Given the description of an element on the screen output the (x, y) to click on. 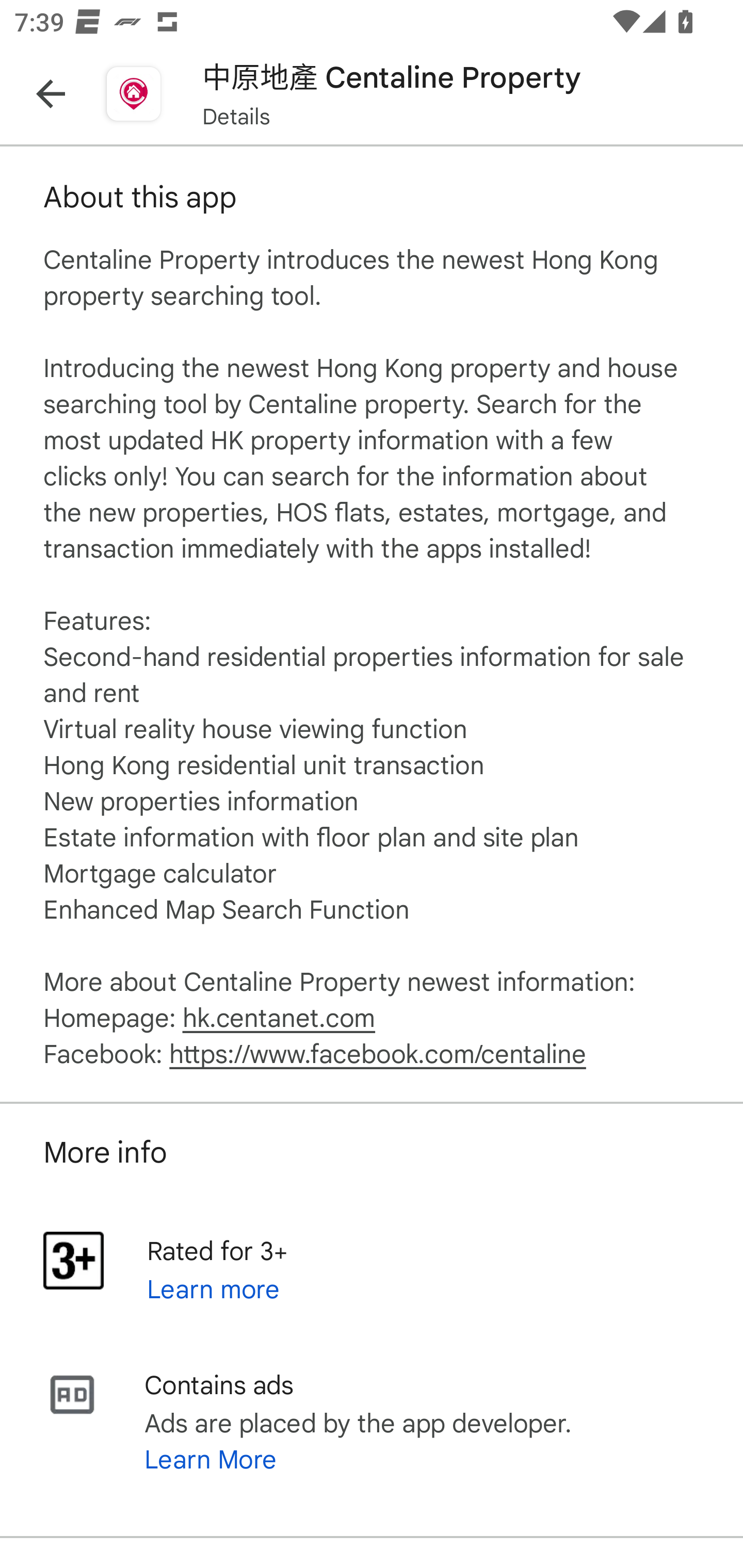
Navigate up (50, 93)
